Given the description of an element on the screen output the (x, y) to click on. 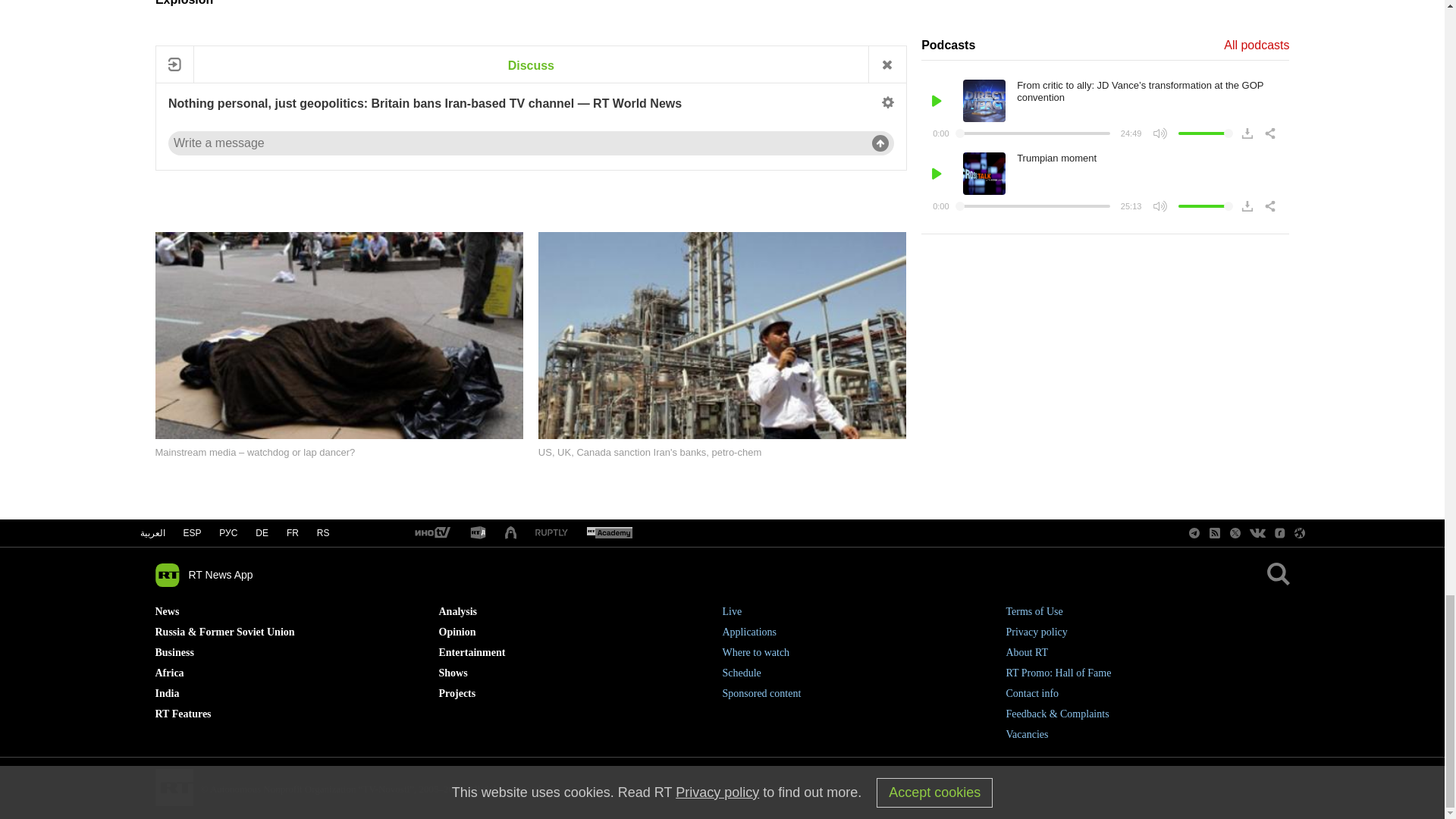
RT  (478, 533)
RT  (551, 533)
RT  (608, 533)
RT  (431, 533)
